Given the description of an element on the screen output the (x, y) to click on. 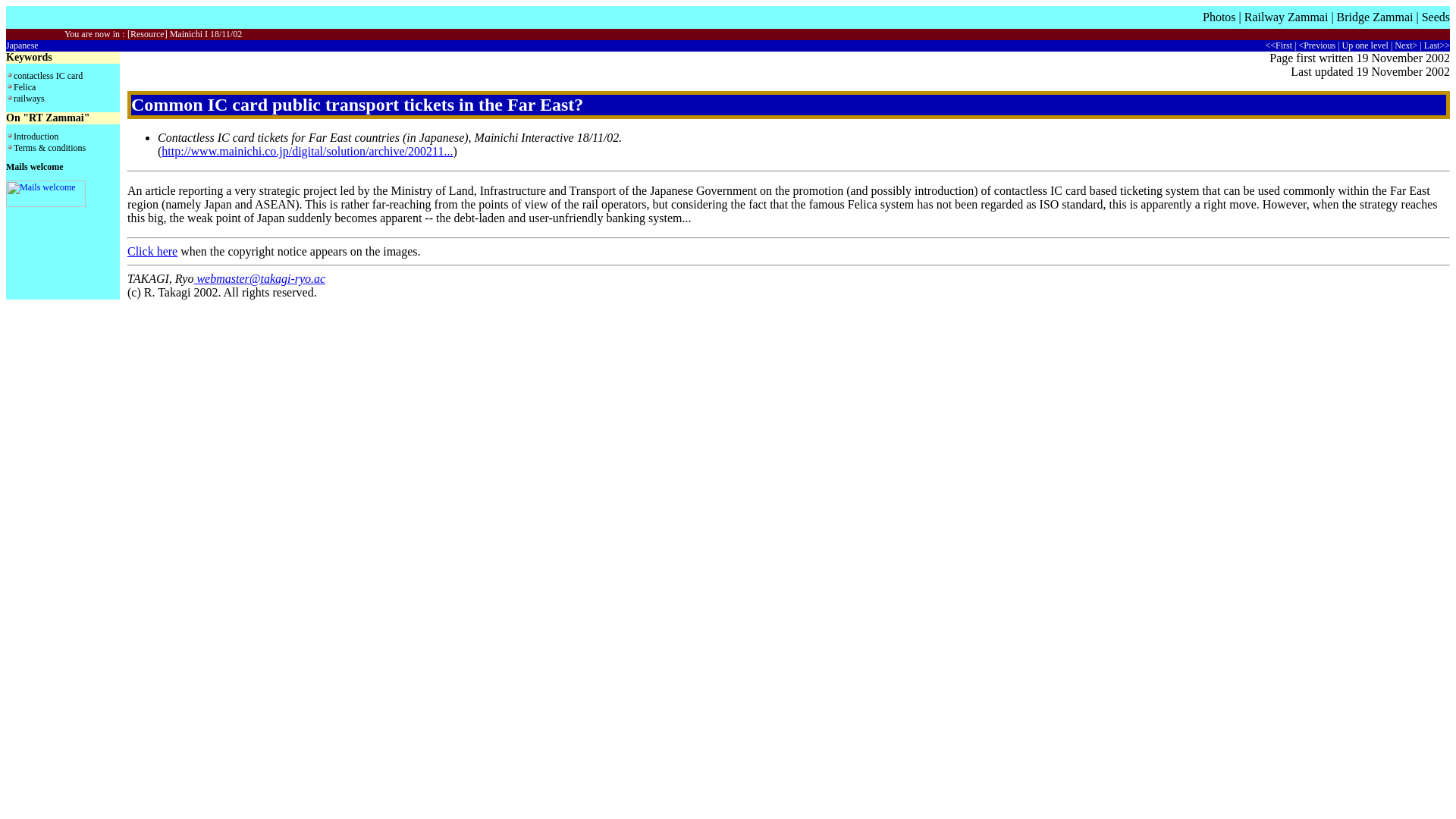
Bridge Zammai (1374, 16)
Seeds (1436, 16)
Railway Zammai (1285, 16)
Felica (23, 86)
Photos (1219, 16)
Mails welcome (34, 166)
Up one level (1365, 45)
Click here (152, 250)
contactless IC card (47, 75)
railways (29, 98)
Introduction (35, 136)
Japanese (22, 45)
